Given the description of an element on the screen output the (x, y) to click on. 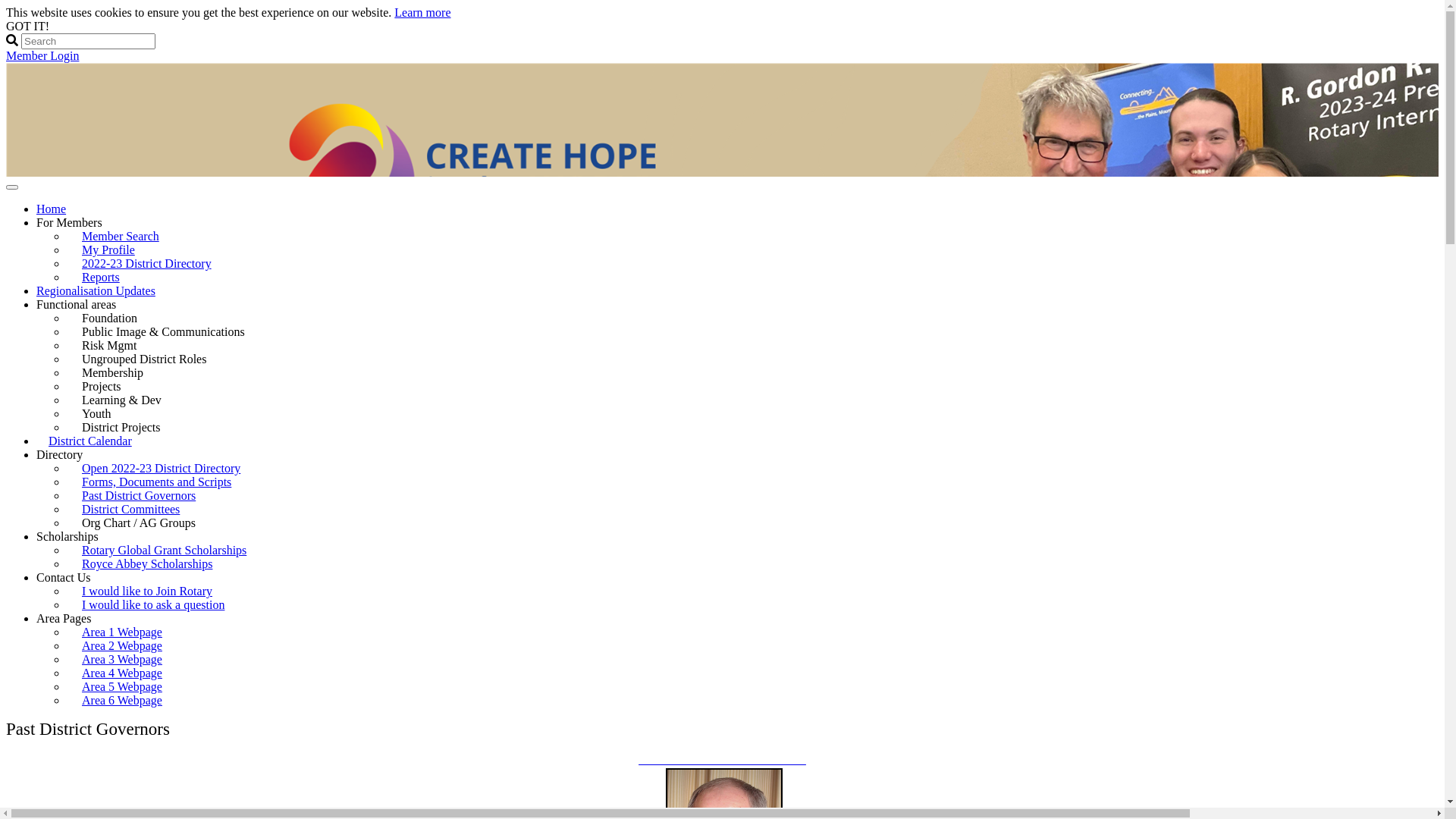
Learn more Element type: text (422, 12)
Royce Abbey Scholarships Element type: text (146, 563)
Member Search Element type: text (120, 235)
Learning & Dev Element type: text (127, 399)
Foundation Element type: text (115, 317)
Functional areas Element type: text (76, 304)
Forms, Documents and Scripts Element type: text (156, 481)
Risk Mgmt Element type: text (114, 345)
Reports Element type: text (100, 276)
Click here for PDG contact details Element type: text (722, 759)
Ungrouped District Roles Element type: text (149, 358)
Open 2022-23 District Directory Element type: text (160, 467)
Member Login Element type: text (42, 55)
2022-23 District Directory Element type: text (146, 263)
District Calendar Element type: text (89, 440)
Directory Element type: text (59, 454)
Area 2 Webpage Element type: text (121, 645)
Area 4 Webpage Element type: text (121, 672)
Scholarships Element type: text (67, 536)
Toggle navigation Element type: text (12, 187)
Area 6 Webpage Element type: text (121, 700)
I would like to Join Rotary Element type: text (146, 590)
My Profile Element type: text (108, 249)
Past District Governors Element type: text (138, 495)
Youth Element type: text (102, 413)
Membership Element type: text (118, 372)
For Members Element type: text (69, 222)
Contact Us Element type: text (63, 577)
I would like to ask a question Element type: text (152, 604)
Projects Element type: text (107, 386)
Org Chart / AG Groups Element type: text (144, 522)
GOT IT! Element type: text (27, 25)
Area Pages Element type: text (63, 617)
Area 5 Webpage Element type: text (121, 686)
Regionalisation Updates Element type: text (95, 290)
Area 1 Webpage Element type: text (121, 631)
Rotary Global Grant Scholarships Element type: text (163, 549)
Area 3 Webpage Element type: text (121, 659)
District Committees Element type: text (130, 508)
Home Element type: text (50, 208)
Public Image & Communications Element type: text (169, 331)
